Given the description of an element on the screen output the (x, y) to click on. 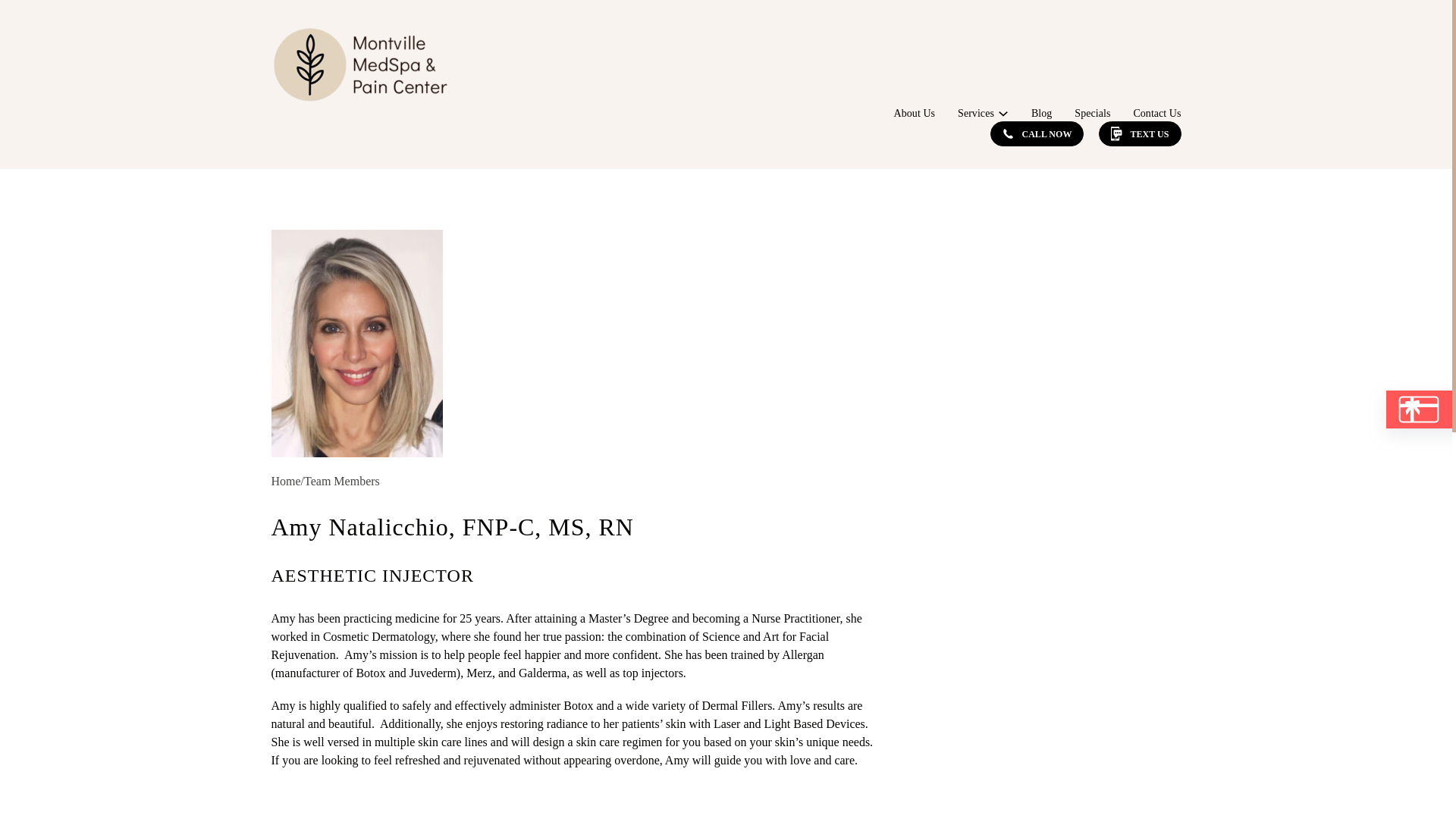
Services (976, 113)
About Us (913, 113)
